Given the description of an element on the screen output the (x, y) to click on. 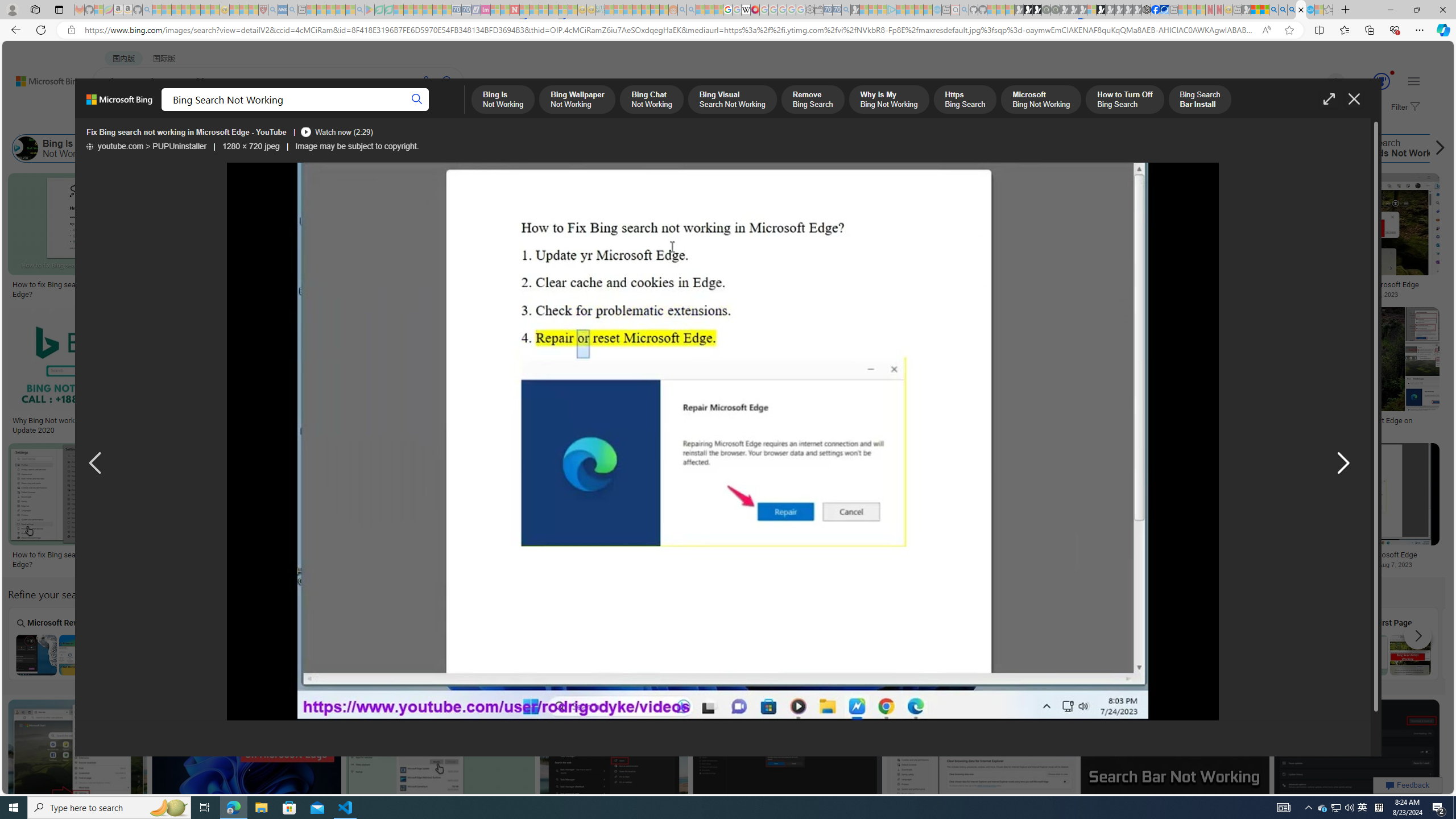
ACADEMIC (360, 111)
Settings and quick links (1413, 80)
Target page - Wikipedia (745, 9)
Bing searches not working? : r/bing (782, 420)
Previous image result (95, 463)
2:22 (208, 183)
Jobs - lastminute.com Investor Portal - Sleeping (485, 9)
Bing Search Bar Install (1028, 148)
